Given the description of an element on the screen output the (x, y) to click on. 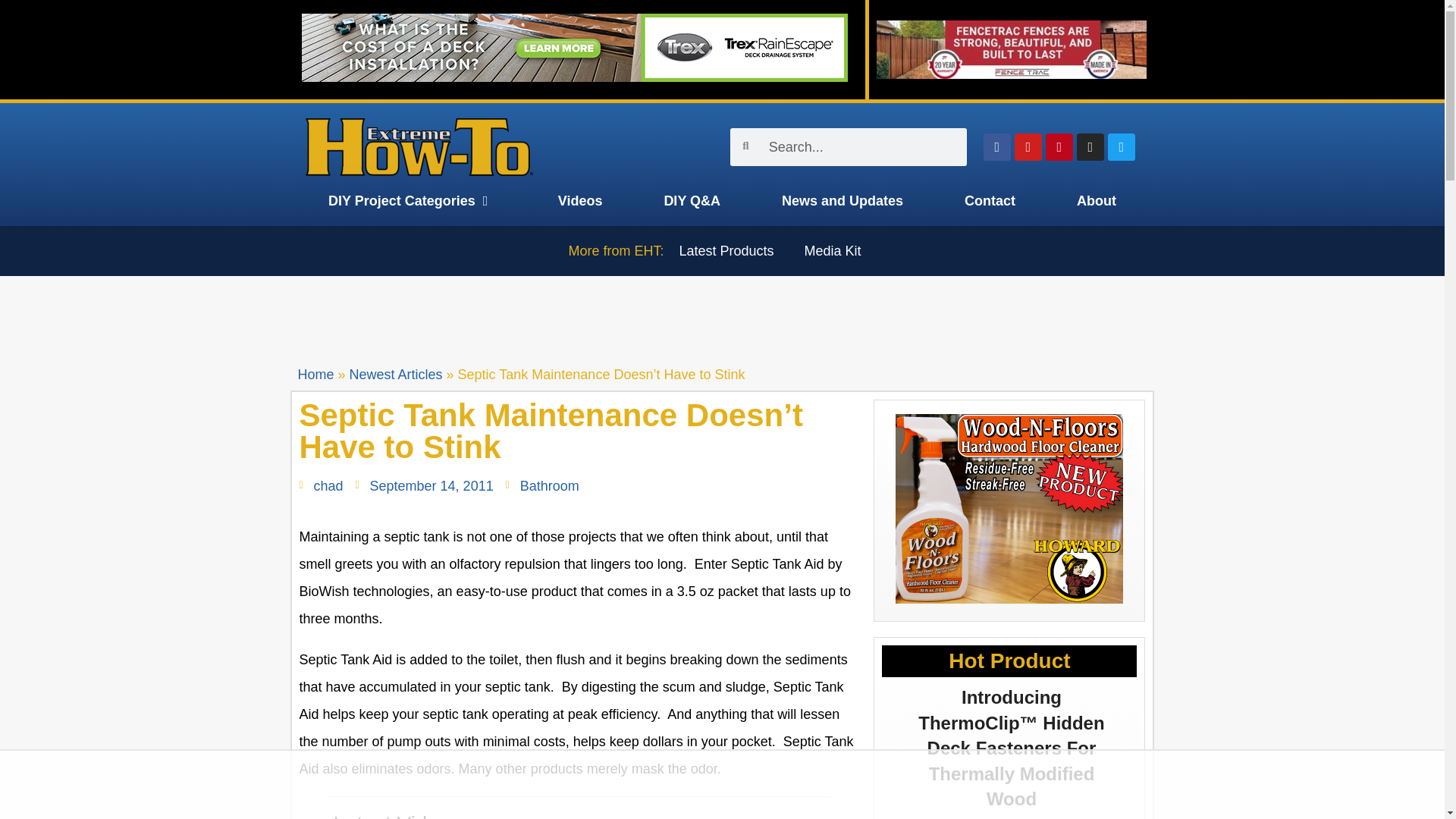
DIY Project Categories (412, 200)
